Given the description of an element on the screen output the (x, y) to click on. 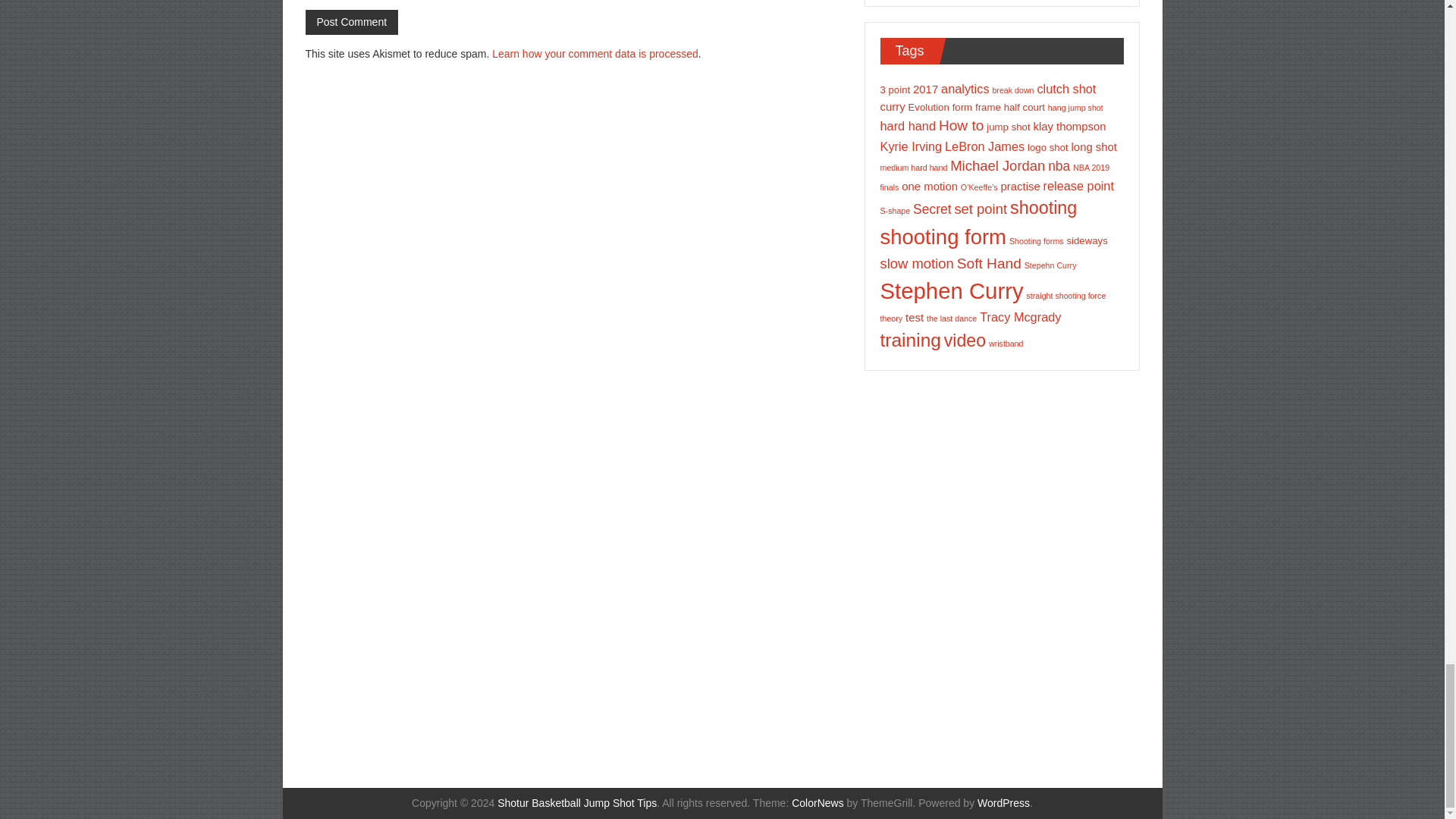
Post Comment (350, 22)
